Given the description of an element on the screen output the (x, y) to click on. 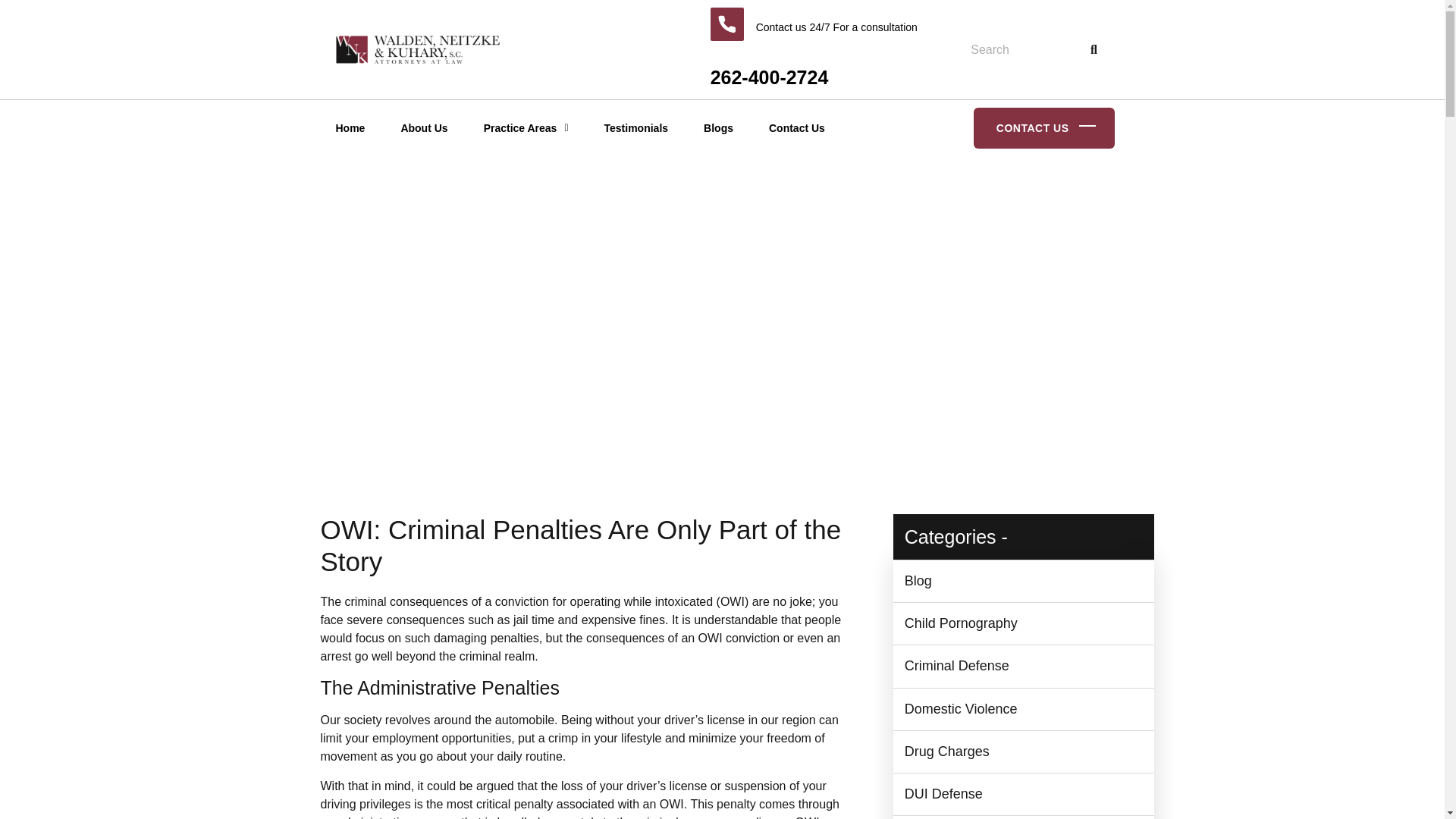
Drug Charges (947, 751)
Criminal Defense (956, 665)
Blog (917, 580)
CONTACT US (1044, 127)
Blogs (718, 127)
Home (349, 127)
Child Pornography (960, 622)
Practice Areas (526, 127)
262-400-2724 (769, 76)
Testimonials (636, 127)
